Given the description of an element on the screen output the (x, y) to click on. 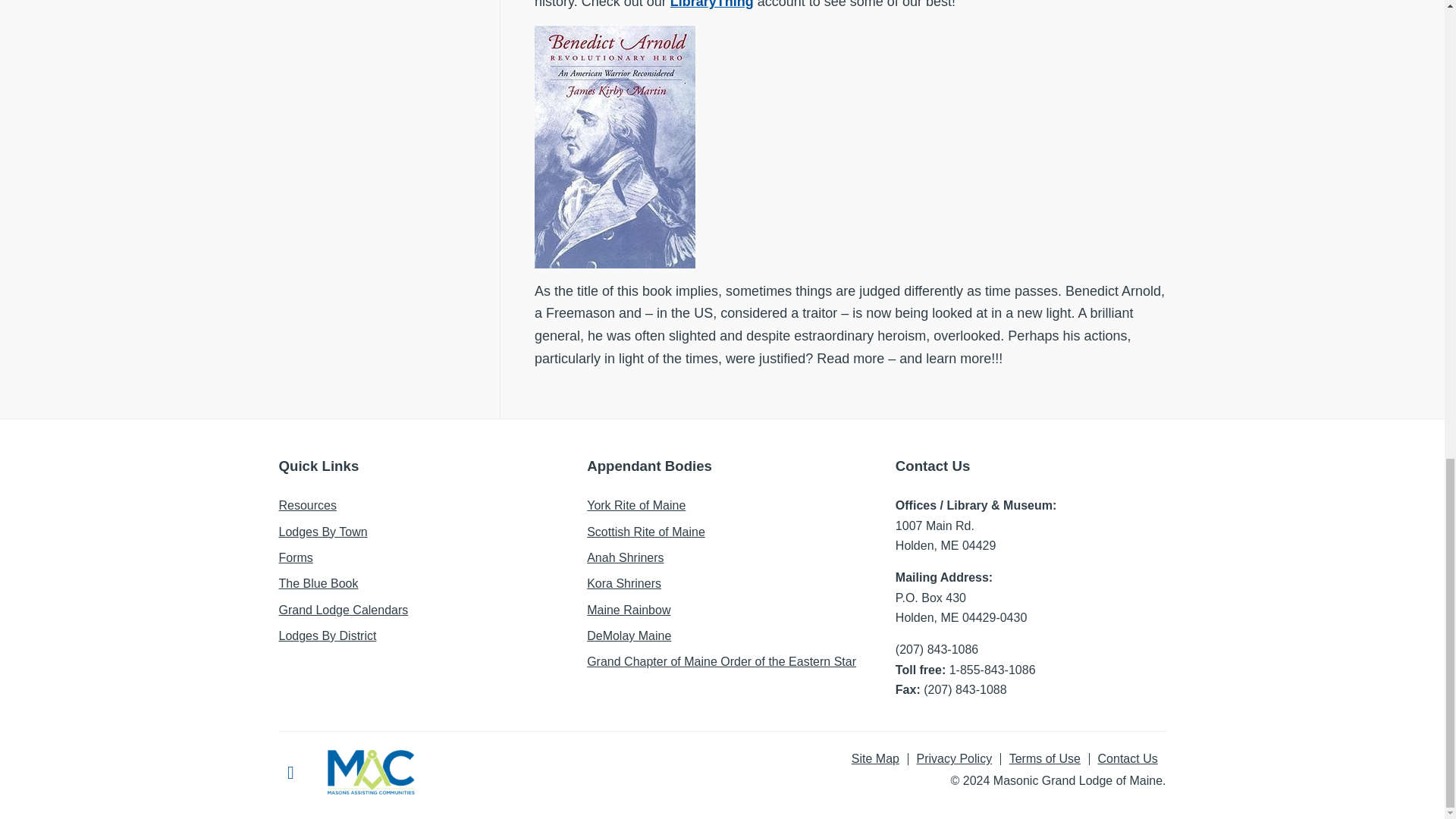
Lodges By Town (323, 531)
LibraryThing (711, 4)
The Blue Book (318, 583)
Forms (296, 557)
Resources (307, 504)
Grand Lodge Calendars (344, 609)
Masonic Grand Lodge of Maine Facebook (290, 772)
